Given the description of an element on the screen output the (x, y) to click on. 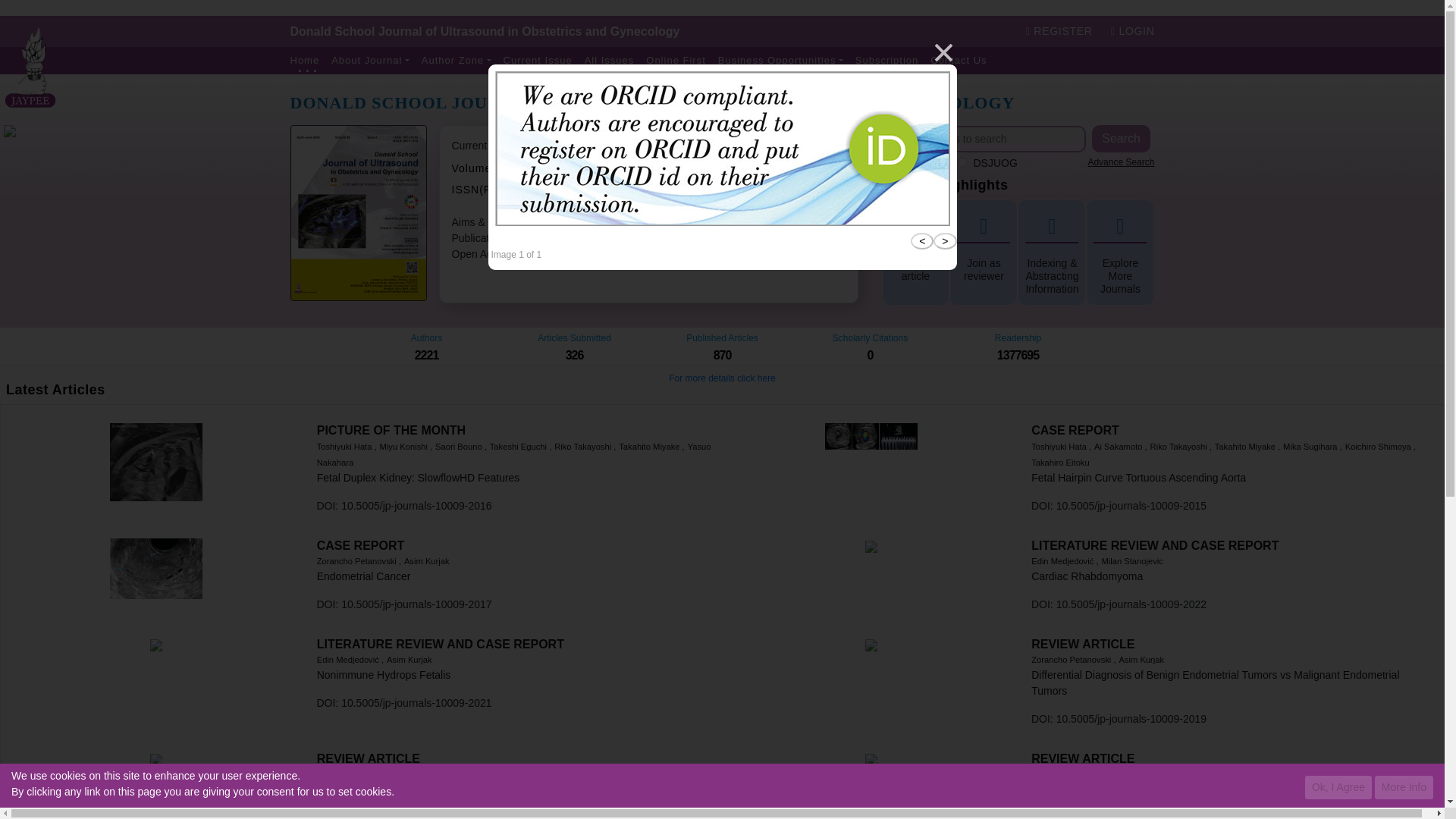
Fetal Duplex Kidney: SlowflowHD Features (418, 477)
Fetal Hairpin Curve Tortuous Ascending Aorta (1227, 444)
Fetal Duplex Kidney: SlowflowHD Features (514, 444)
Submit Manuscript (983, 269)
Fetal Hairpin Curve Tortuous Ascending Aorta (763, 171)
DSJUOG (1138, 477)
Click Here For Advance Search (963, 162)
2221 (1120, 162)
0 (426, 355)
1377695 (870, 355)
LOGIN (1017, 355)
Business Opportunities (1132, 30)
For more details click here (779, 60)
Endometrial Cancer (722, 374)
